Given the description of an element on the screen output the (x, y) to click on. 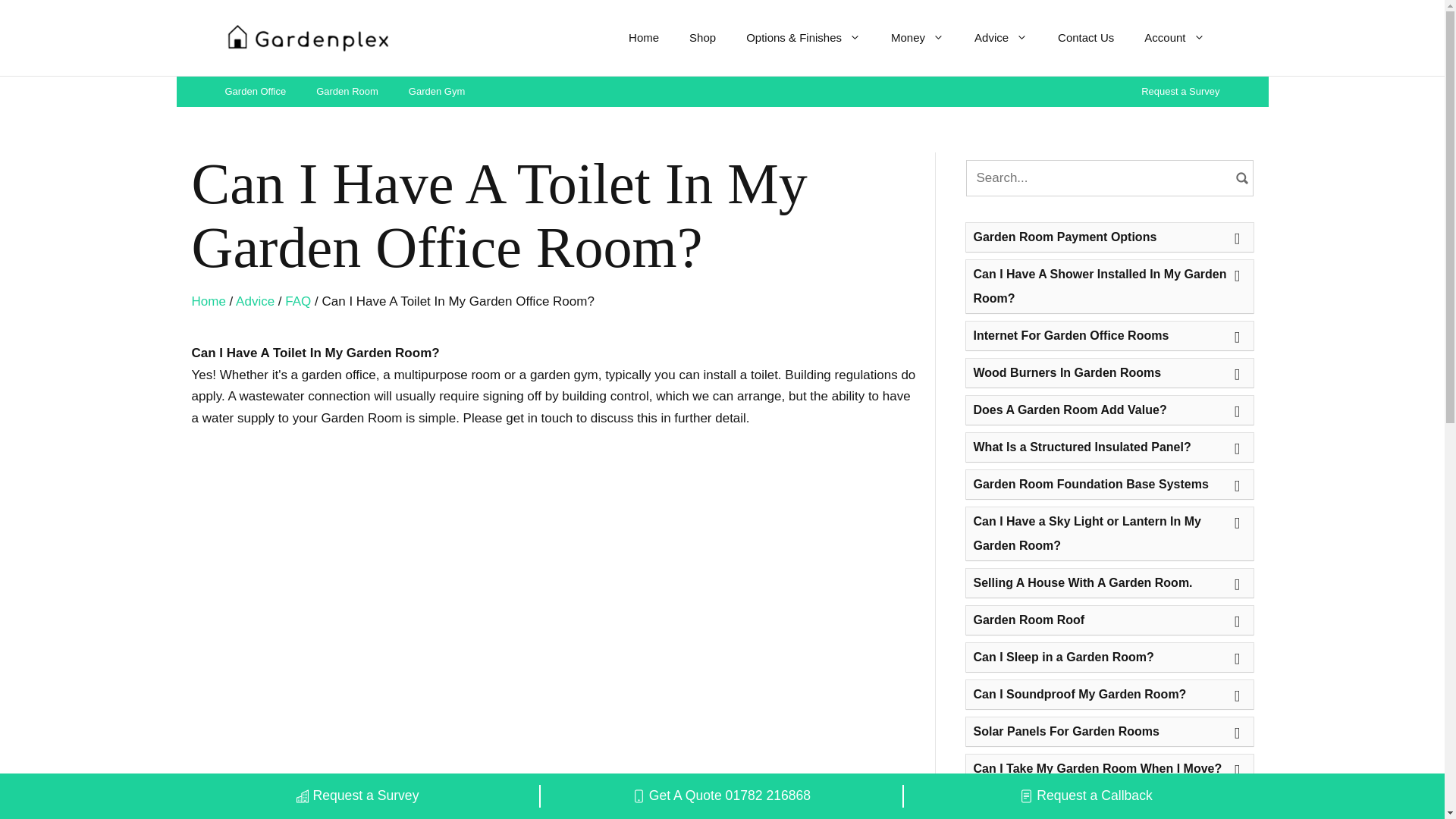
Home (643, 37)
Gardenplex (307, 37)
Gardenplex (307, 36)
Advice (1000, 37)
Shop (702, 37)
Contact Us (1085, 37)
Account (1174, 37)
Money (917, 37)
